Given the description of an element on the screen output the (x, y) to click on. 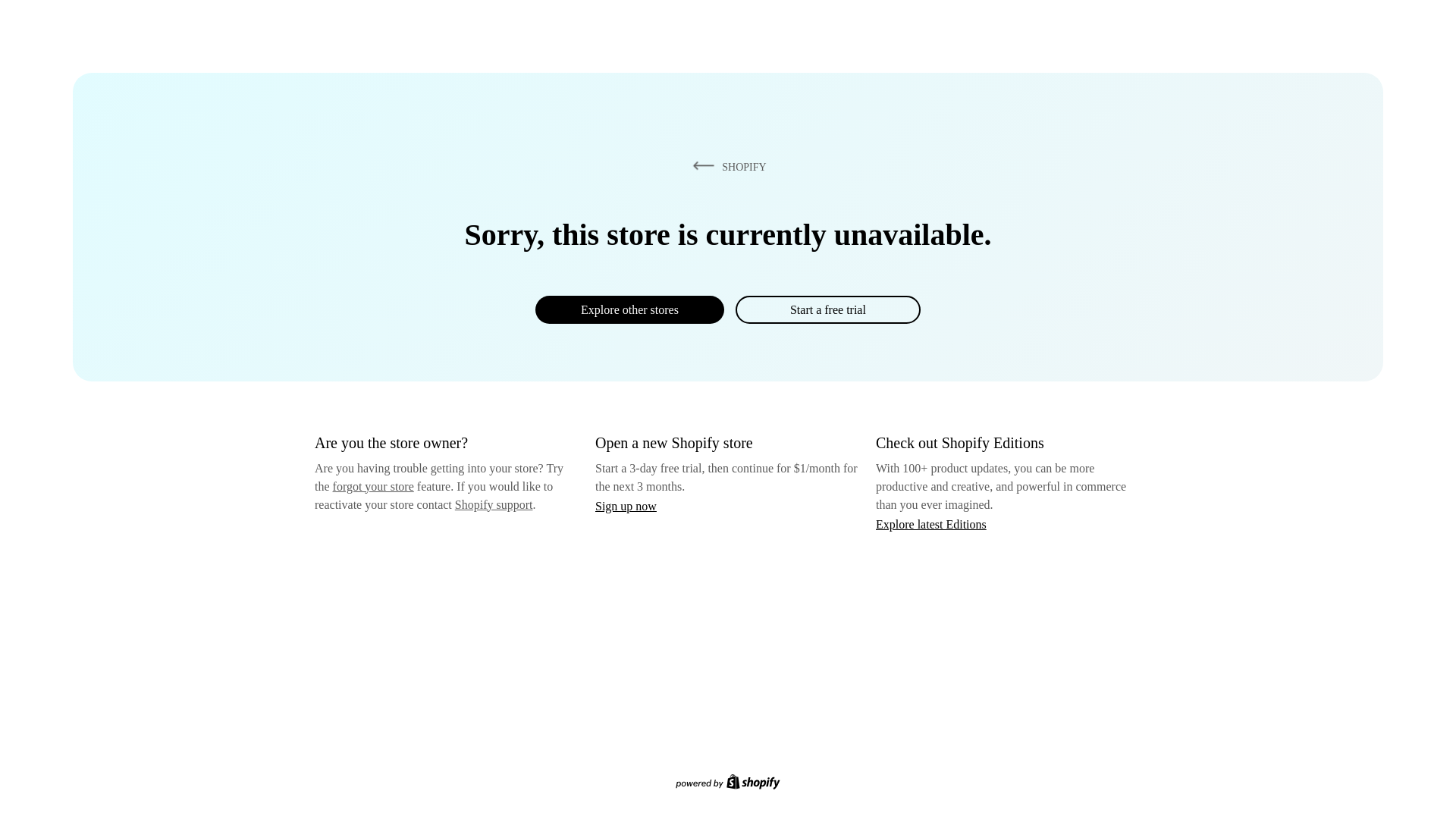
Explore other stores (629, 309)
SHOPIFY (726, 166)
Explore latest Editions (931, 523)
Start a free trial (827, 309)
forgot your store (373, 486)
Sign up now (625, 505)
Shopify support (493, 504)
